Given the description of an element on the screen output the (x, y) to click on. 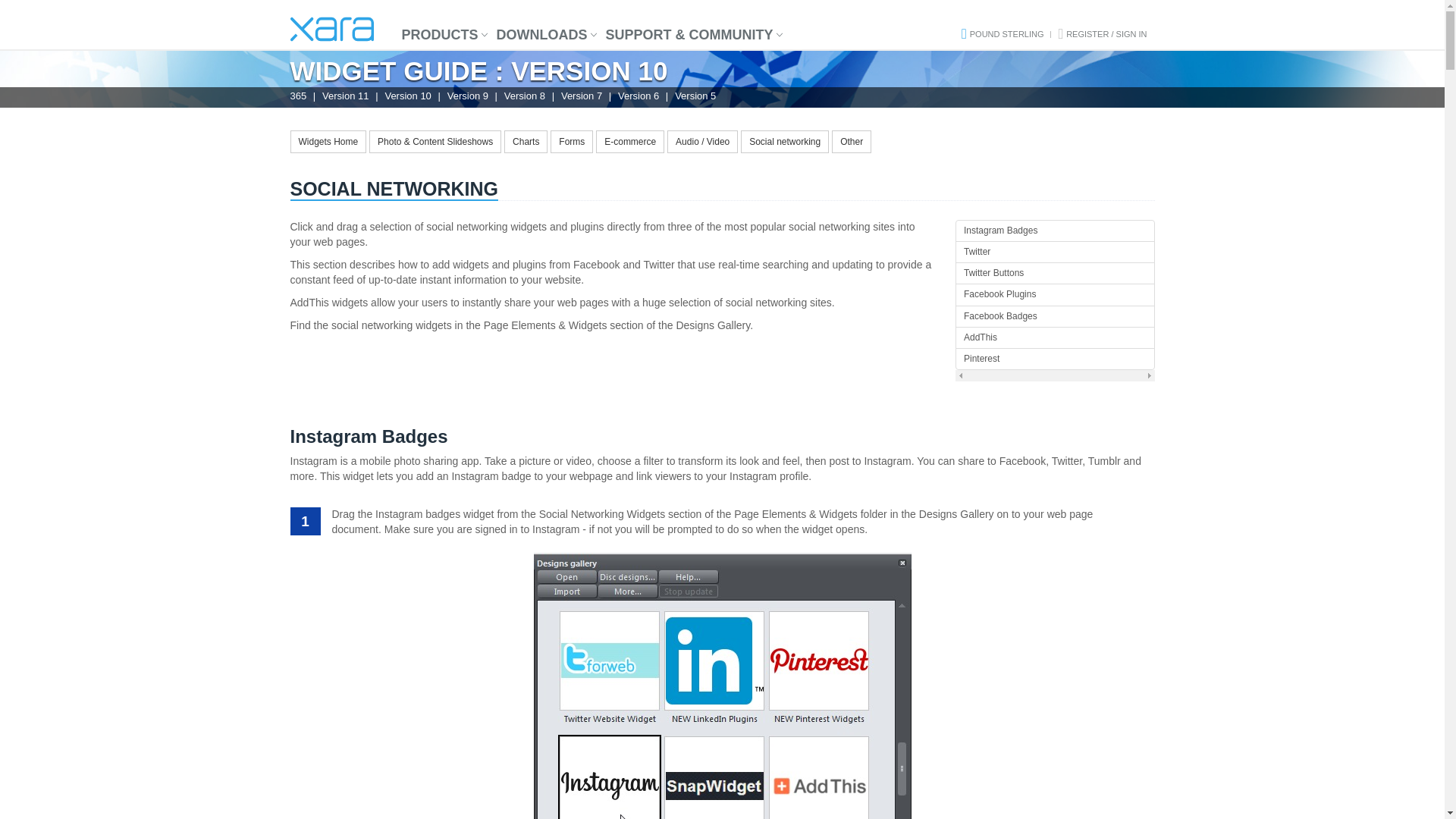
POUND STERLING (1006, 33)
PRODUCTS (440, 35)
DOWNLOADS (541, 35)
Xara  (330, 28)
